Given the description of an element on the screen output the (x, y) to click on. 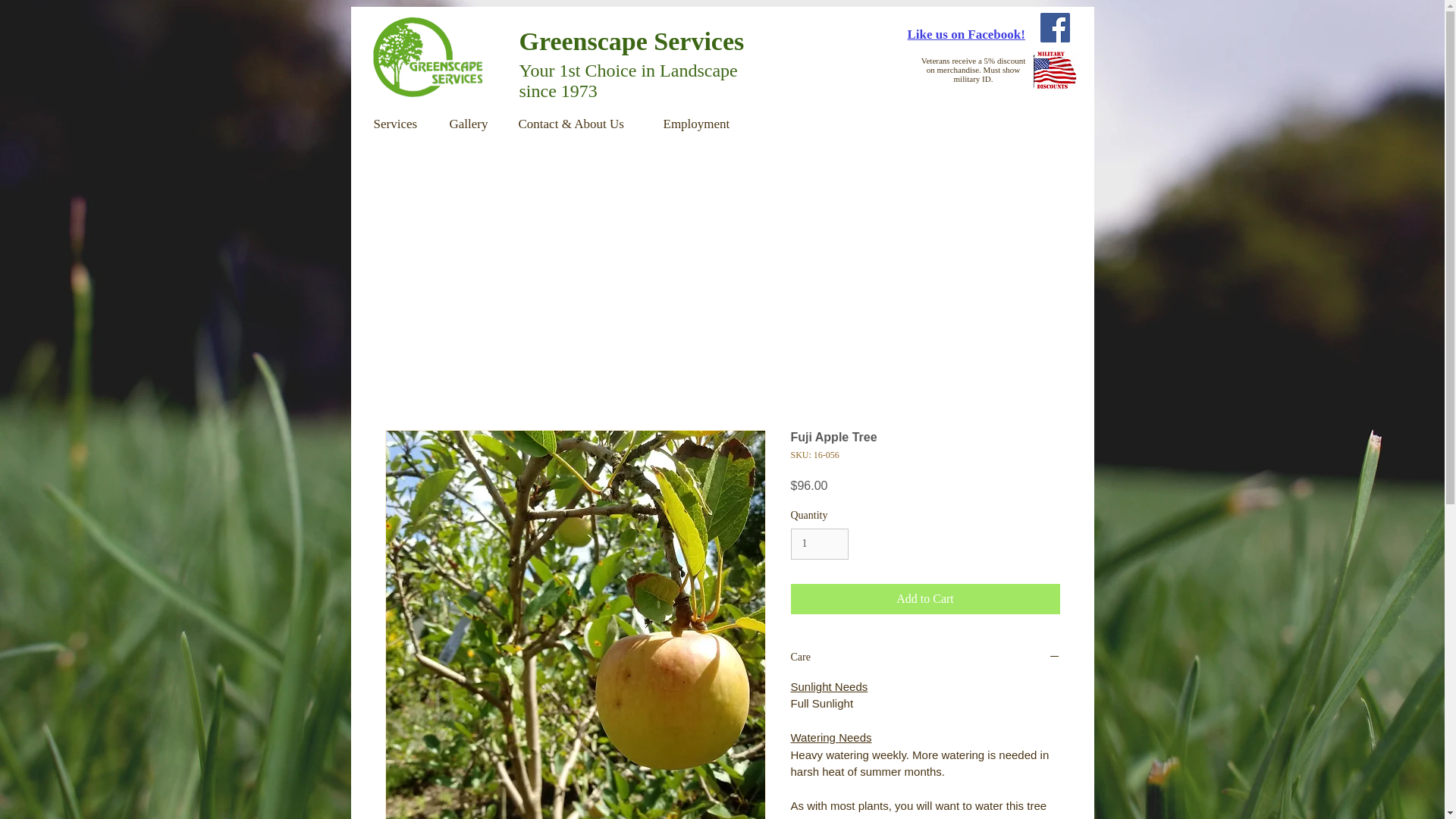
Employment (704, 123)
Add to Cart (924, 598)
Services (400, 123)
Care (924, 657)
Like us on Facebook! (966, 34)
Gallery (472, 123)
1 (818, 543)
